Given the description of an element on the screen output the (x, y) to click on. 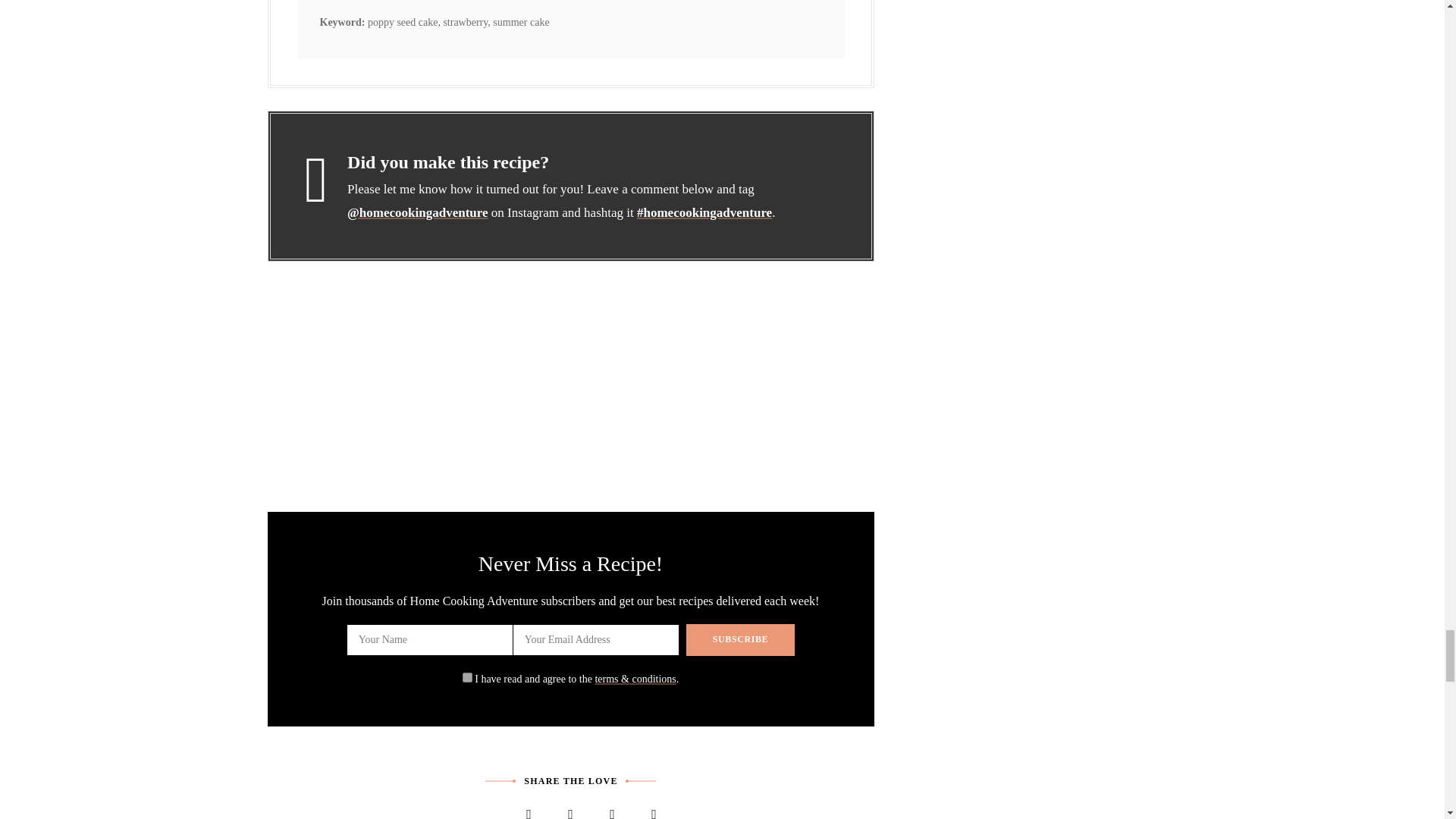
Pinterest (611, 808)
Twitter (570, 808)
Facebook (529, 808)
1 (467, 677)
Like (486, 808)
Subscribe (739, 640)
WhatsApp (654, 808)
